Given the description of an element on the screen output the (x, y) to click on. 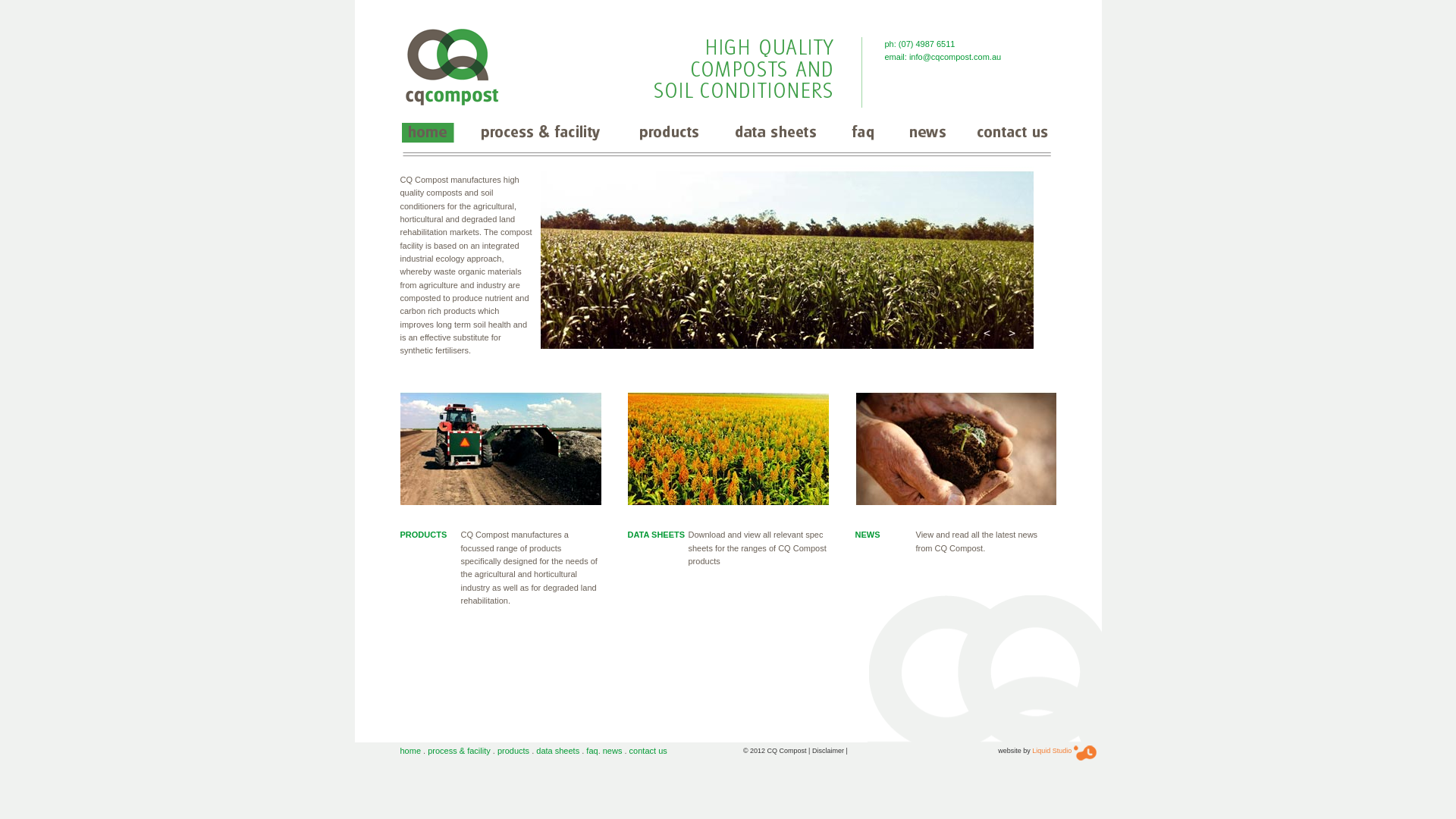
faq Element type: text (591, 750)
DATA SHEETS Element type: text (656, 534)
products Element type: text (512, 750)
process & facility Element type: text (458, 750)
NEWS Element type: text (867, 534)
news Element type: text (612, 750)
data sheets Element type: text (557, 750)
contact us Element type: text (648, 750)
info@cqcompost.com.au Element type: text (955, 56)
home Element type: text (410, 750)
PRODUCTS Element type: text (423, 534)
Liquid Studio Element type: text (1051, 750)
